Given the description of an element on the screen output the (x, y) to click on. 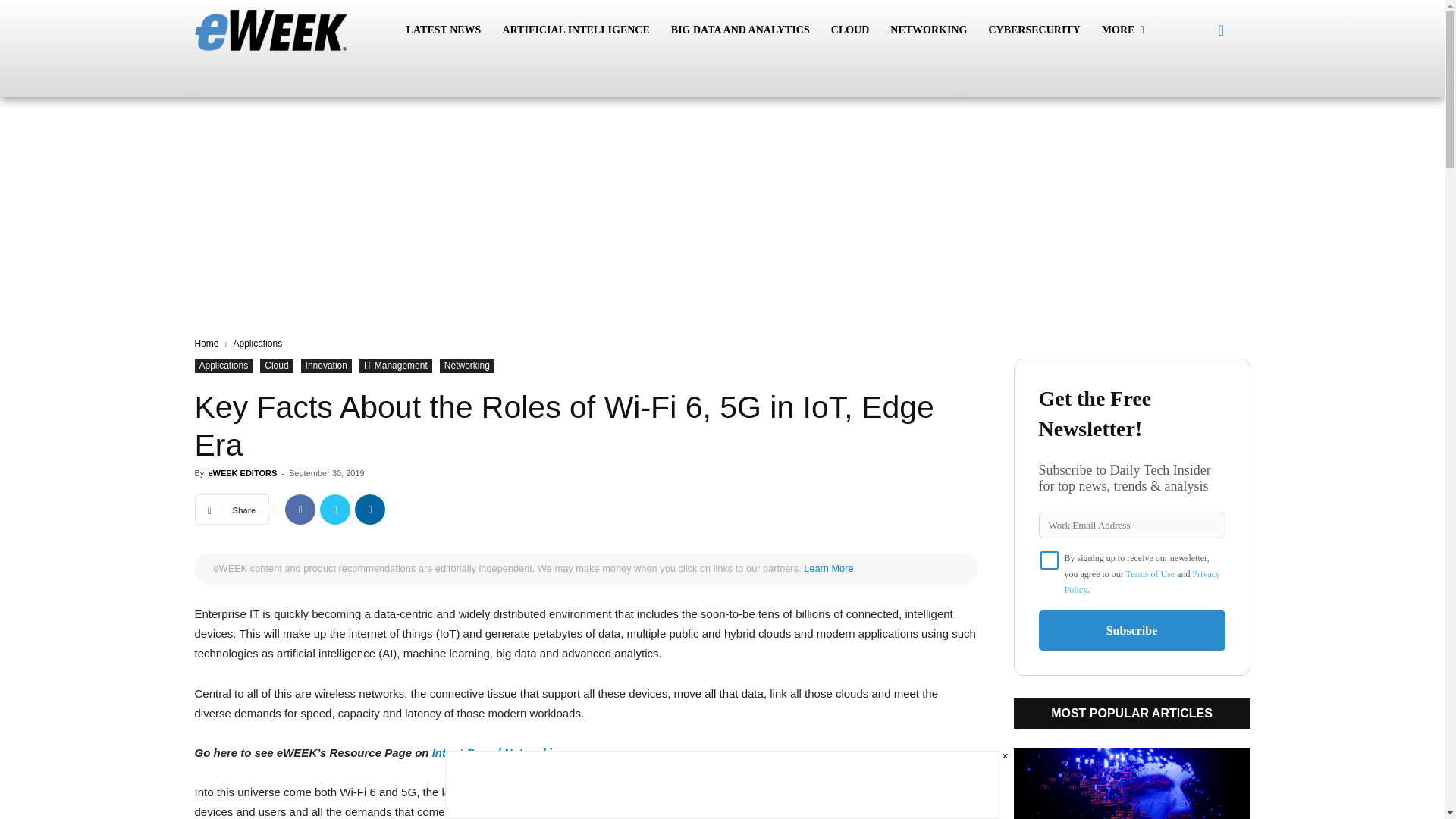
Linkedin (370, 509)
ARTIFICIAL INTELLIGENCE (575, 30)
BIG DATA AND ANALYTICS (741, 30)
Facebook (300, 509)
CYBERSECURITY (1033, 30)
CLOUD (850, 30)
LATEST NEWS (444, 30)
on (1049, 560)
NETWORKING (927, 30)
Twitter (335, 509)
